Given the description of an element on the screen output the (x, y) to click on. 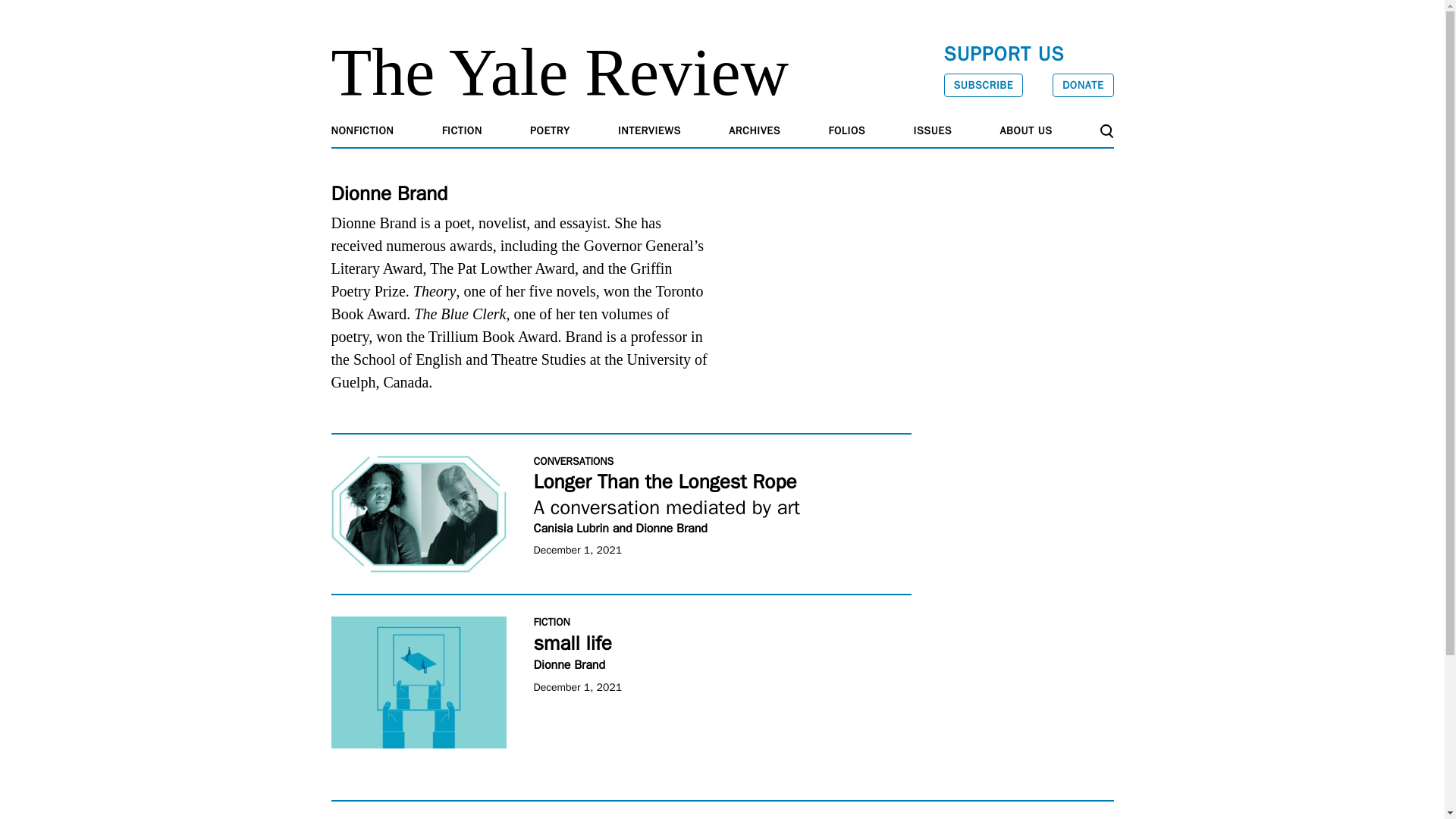
small life (417, 682)
DONATE (1082, 84)
FOLIOS (847, 130)
SUBSCRIBE (983, 84)
FICTION (461, 130)
ABOUT US (1026, 130)
Longer Than the Longest Rope (417, 513)
NONFICTION (361, 130)
ISSUES (933, 130)
INTERVIEWS (649, 130)
ARCHIVES (754, 130)
The Yale Review (559, 72)
POETRY (549, 130)
